Given the description of an element on the screen output the (x, y) to click on. 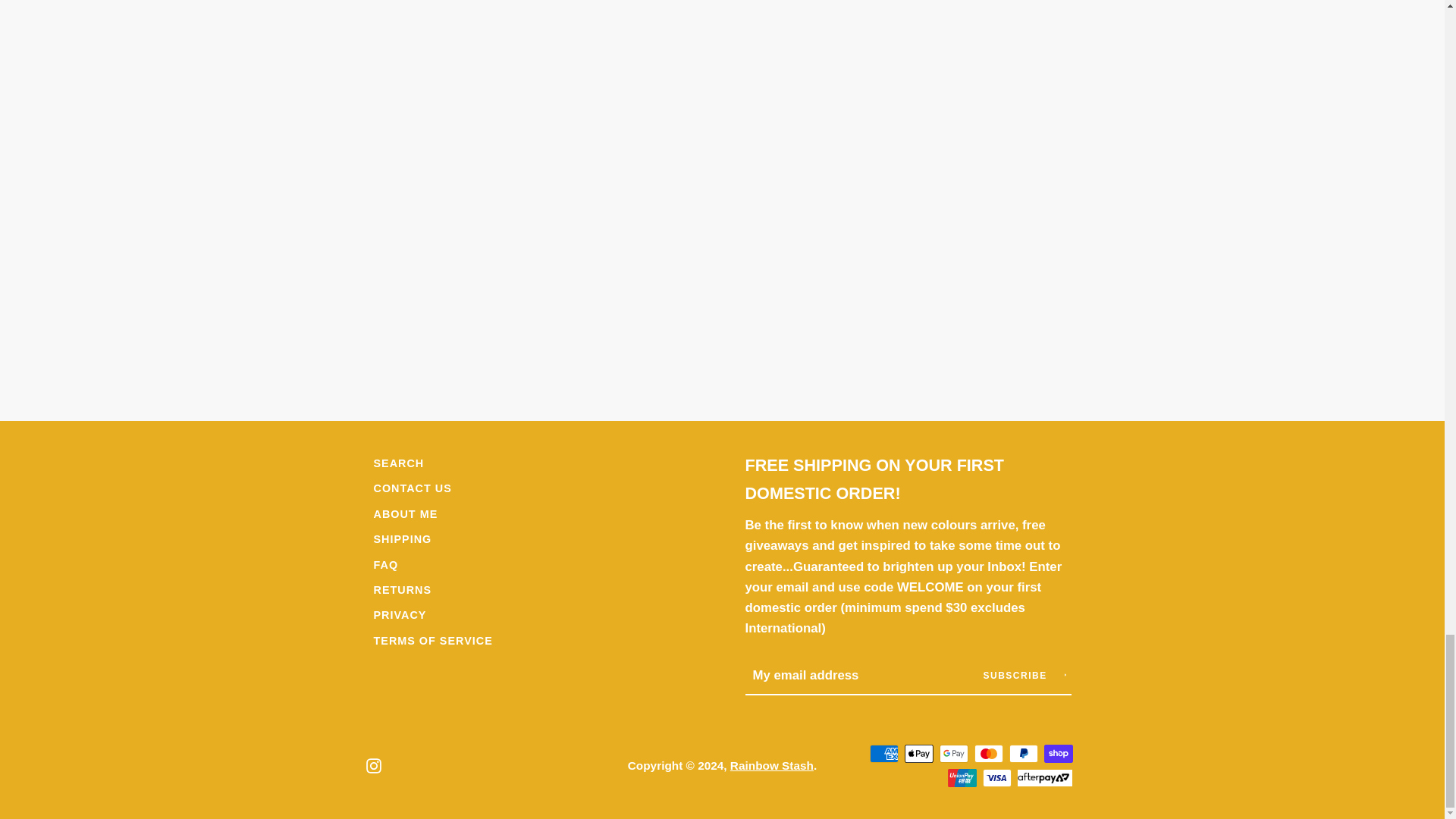
Shop Pay (1057, 753)
PayPal (1022, 753)
Mastercard (988, 753)
Google Pay (953, 753)
Rainbow Stash on Instagram (372, 764)
American Express (883, 753)
Union Pay (961, 778)
Apple Pay (918, 753)
Visa (996, 778)
